Given the description of an element on the screen output the (x, y) to click on. 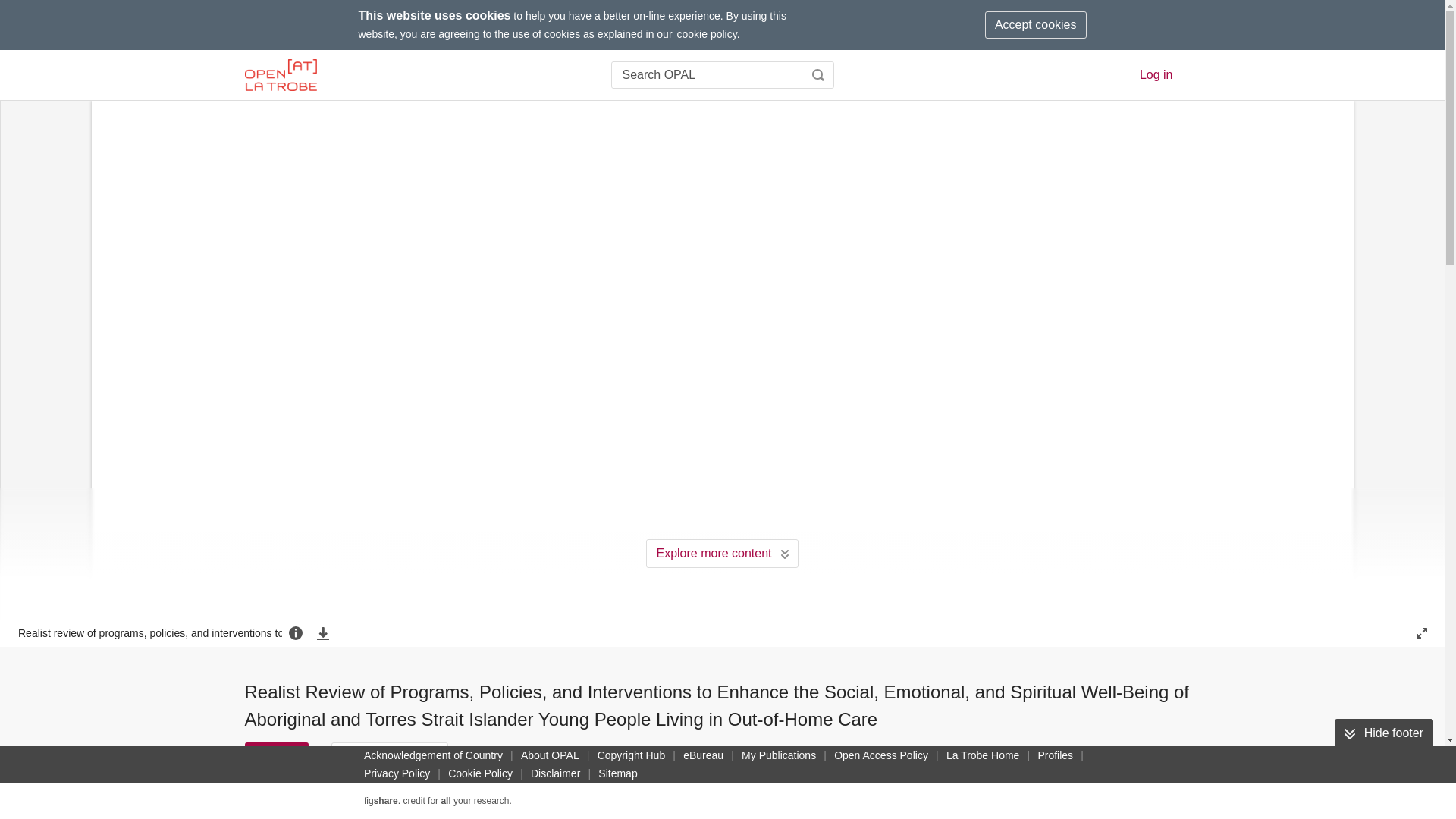
cookie policy (706, 33)
Embed (544, 755)
Carlina Black (847, 805)
Accept cookies (1035, 24)
About OPAL (549, 755)
Log in (1156, 74)
Explore more content (721, 553)
Cite (275, 755)
